Given the description of an element on the screen output the (x, y) to click on. 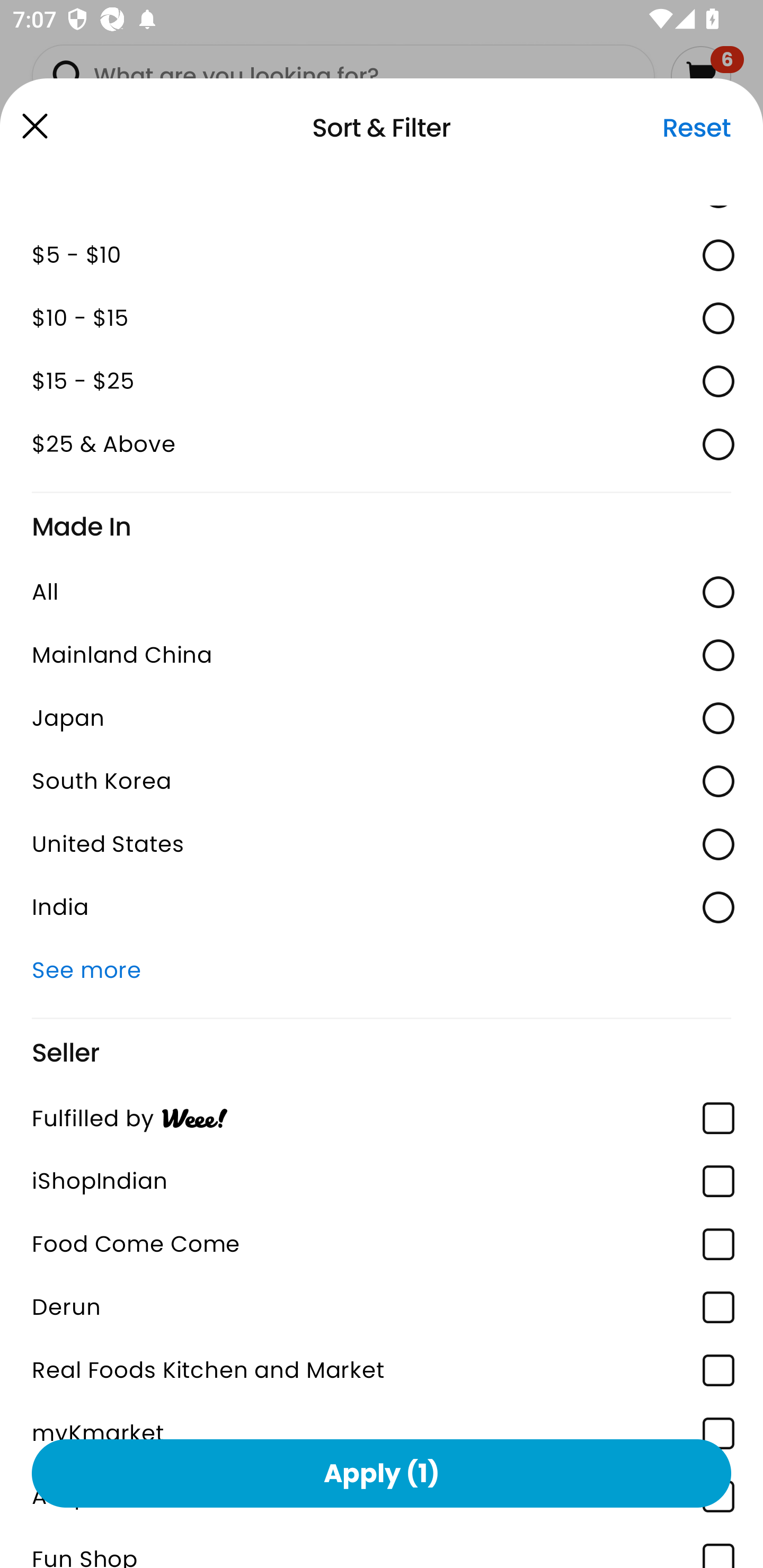
Reset (696, 127)
See more (381, 970)
Apply (1) (381, 1472)
